Given the description of an element on the screen output the (x, y) to click on. 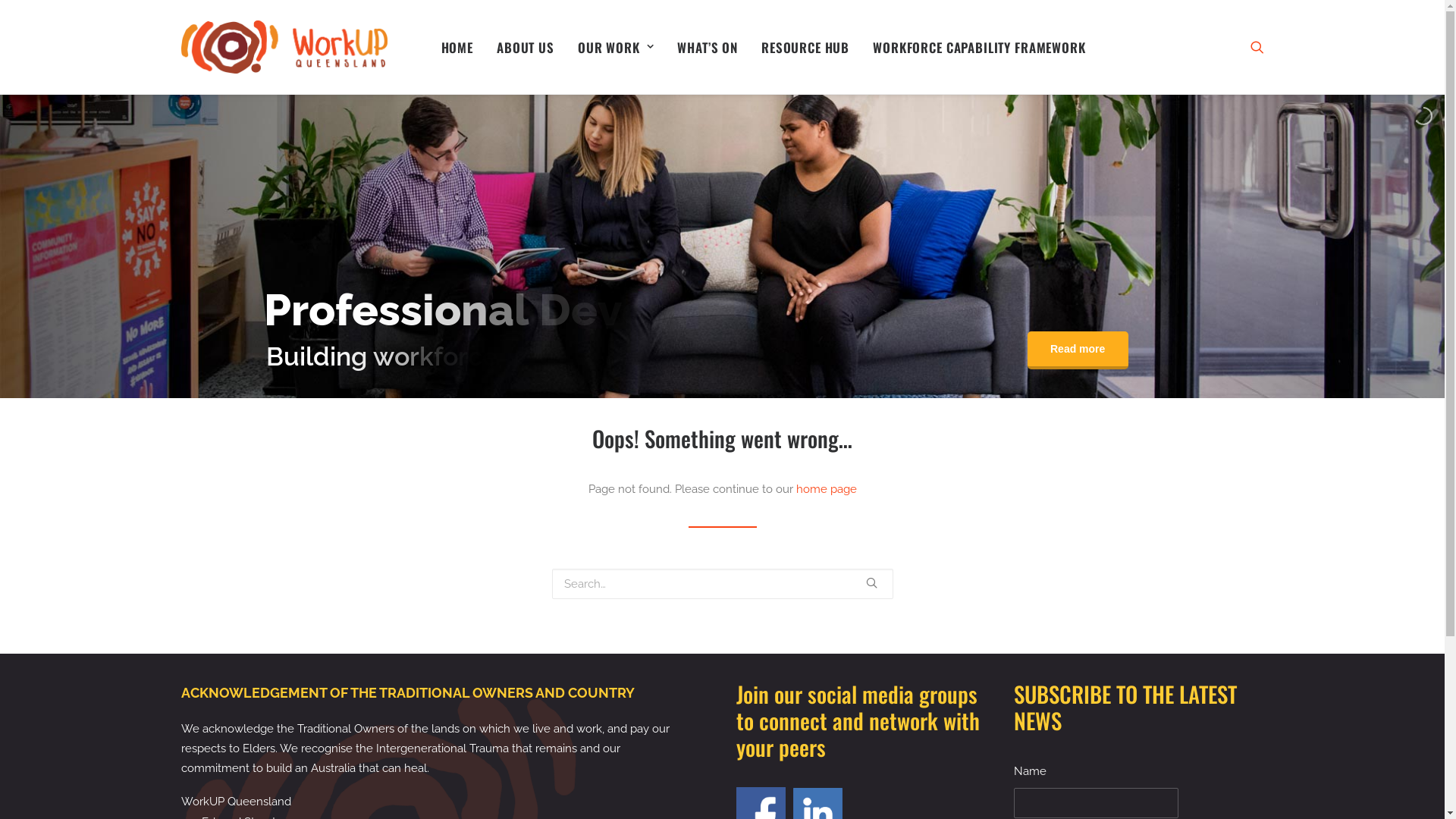
Search for: Element type: hover (722, 583)
home page Element type: text (826, 488)
OUR WORK Element type: text (616, 47)
RESOURCE HUB Element type: text (804, 47)
HOME Element type: text (456, 47)
WORKFORCE CAPABILITY FRAMEWORK Element type: text (979, 47)
ABOUT US Element type: text (525, 47)
